Given the description of an element on the screen output the (x, y) to click on. 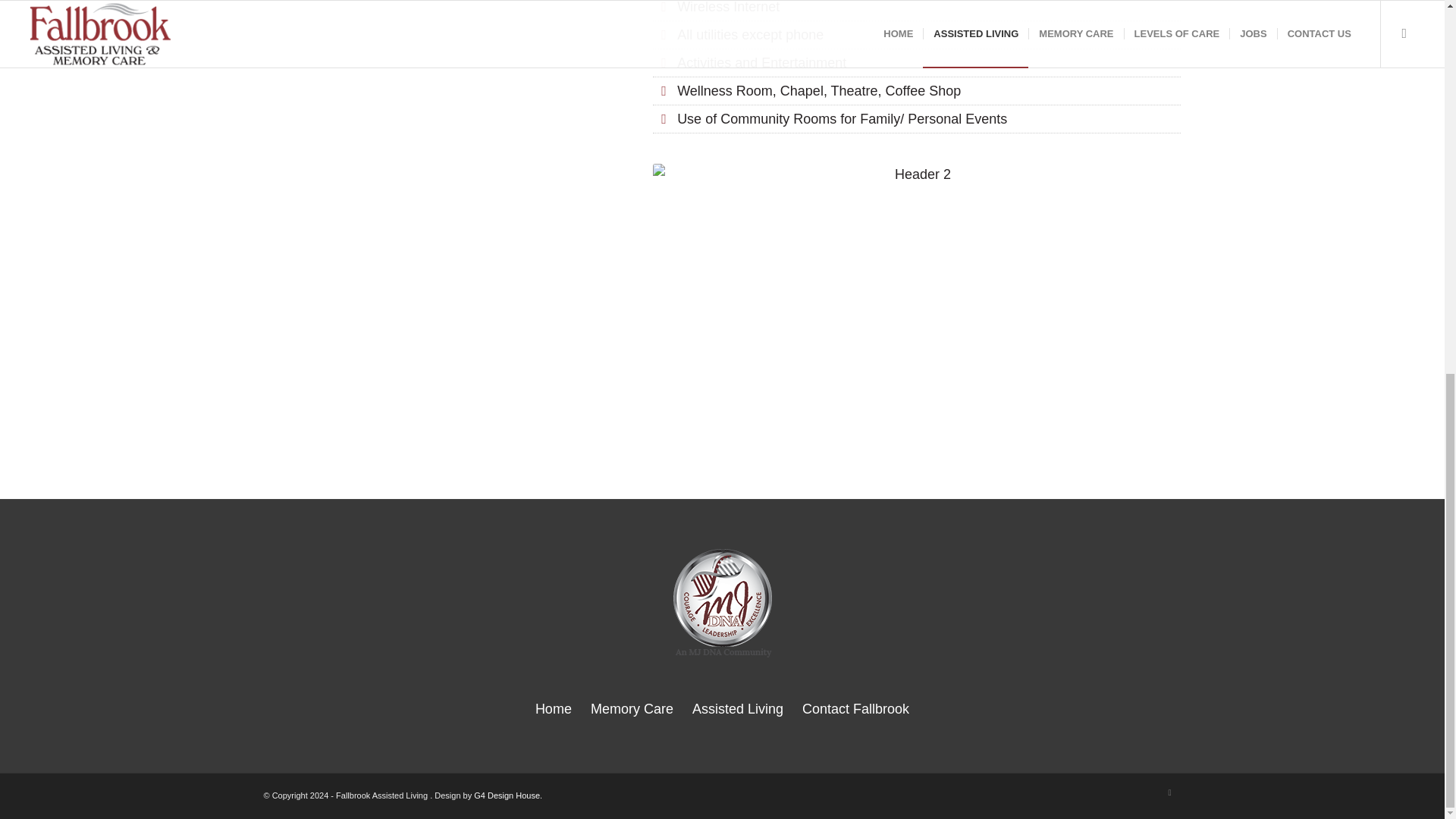
Facebook (1169, 792)
G4 Design House (507, 795)
Assisted Living (738, 708)
Contact Fallbrook (855, 708)
Home (553, 708)
Memory Care (631, 708)
